Given the description of an element on the screen output the (x, y) to click on. 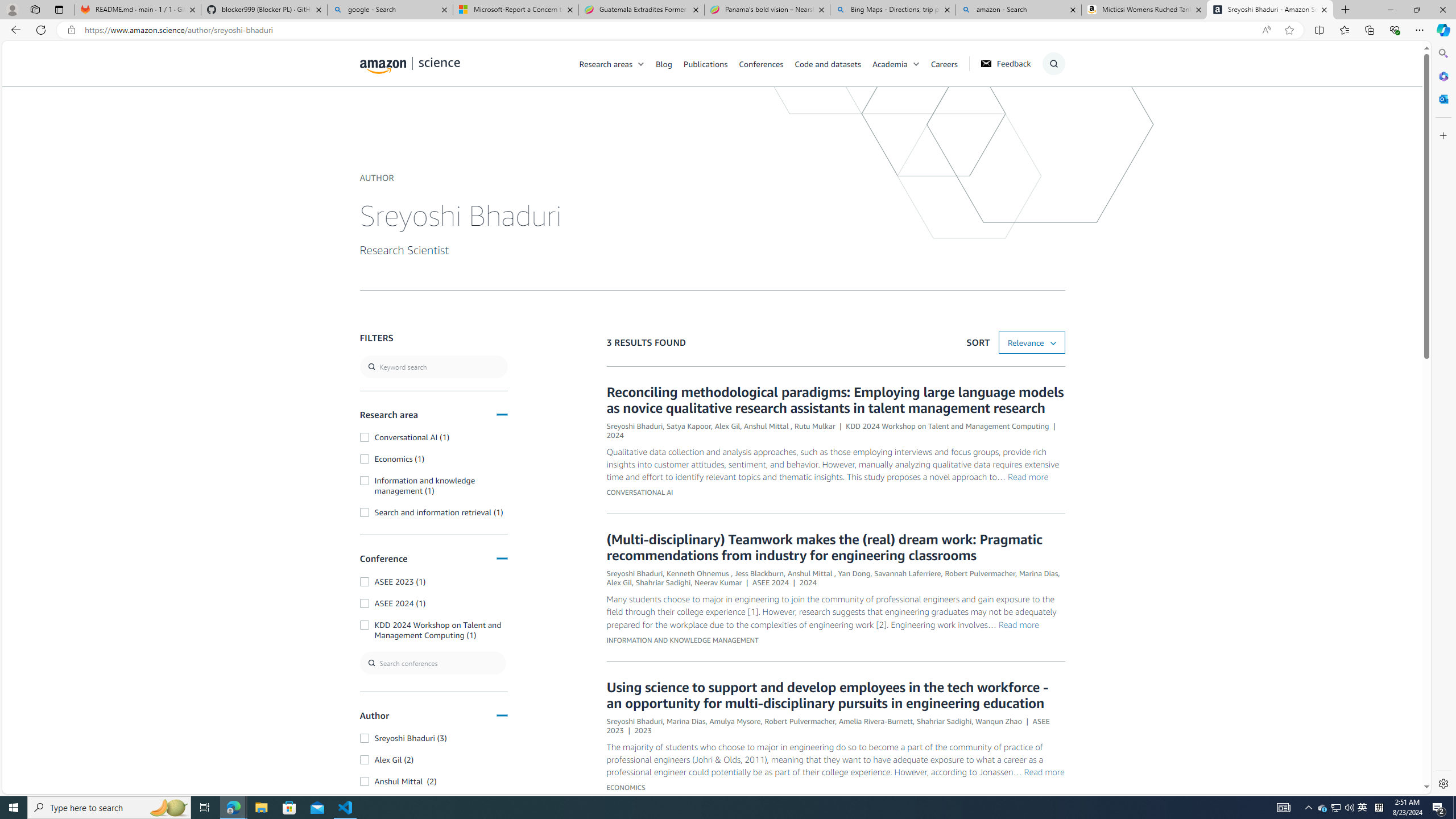
google - Search (389, 9)
Code and datasets (833, 63)
Blog (663, 63)
Yan Dong (853, 573)
Research areas (617, 63)
Alex Gil (618, 582)
Shahriar Sadighi (943, 720)
Blog (669, 63)
Academia (889, 63)
